Given the description of an element on the screen output the (x, y) to click on. 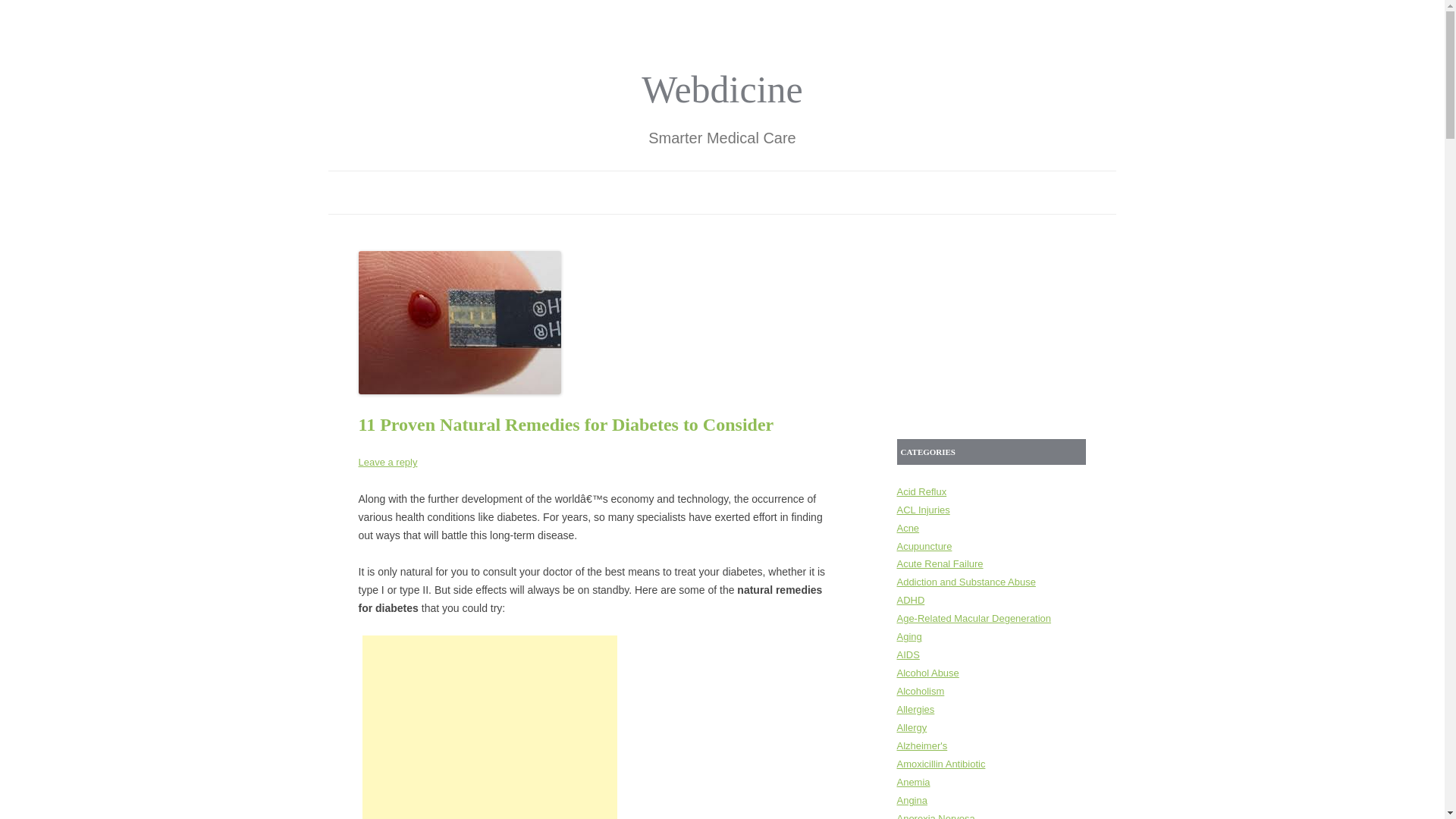
Acne (907, 527)
Webdicine (722, 89)
Acupuncture (924, 545)
Addiction and Substance Abuse (965, 582)
ADHD (910, 600)
Acid Reflux (921, 491)
ACL Injuries (922, 509)
ABOUT (674, 191)
PRIVACY POLICY (773, 191)
